Given the description of an element on the screen output the (x, y) to click on. 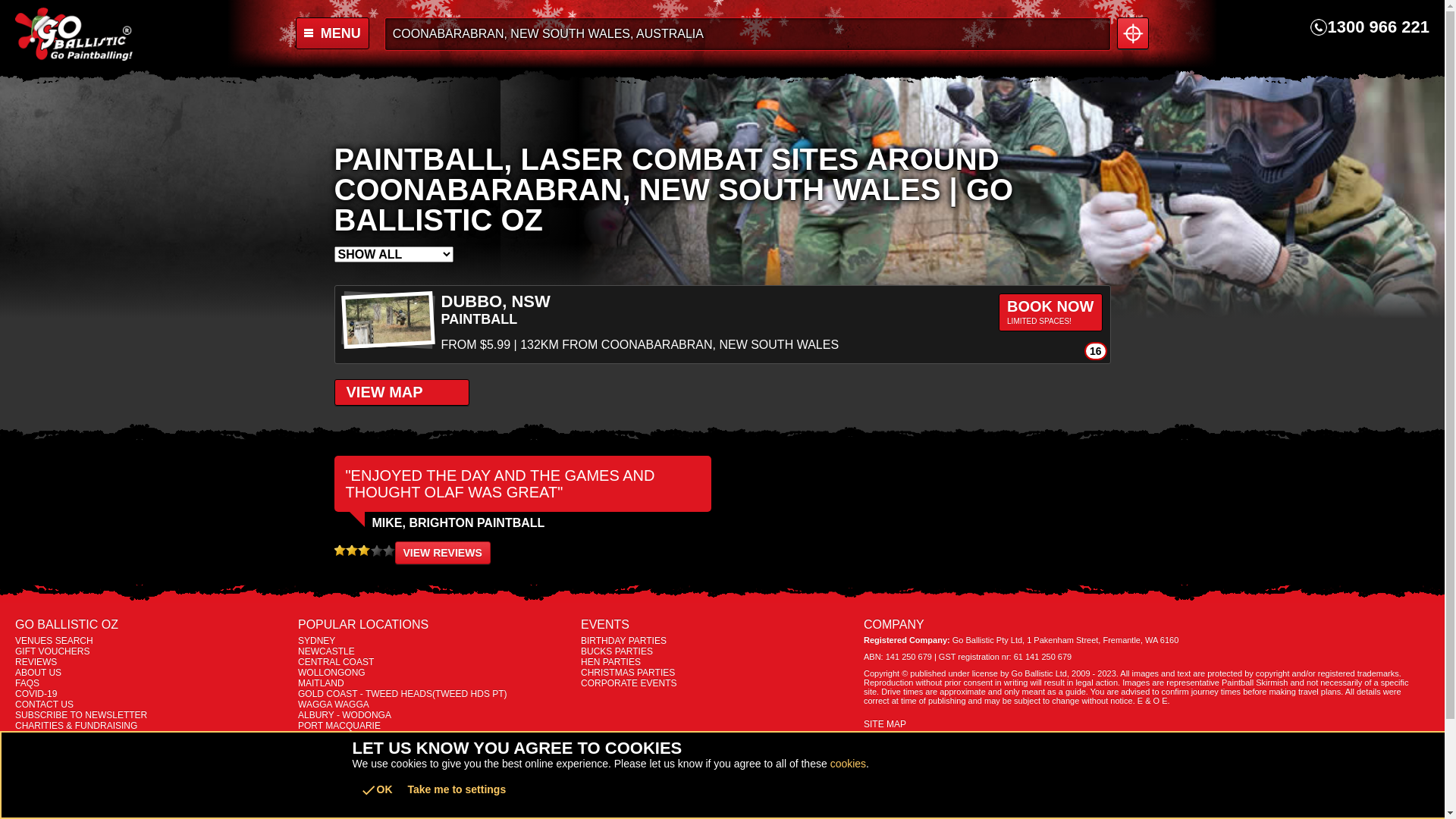
REVIEWS Element type: text (152, 661)
VIEW REVIEWS Element type: text (441, 552)
ALBURY - WODONGA Element type: text (435, 714)
BUCKS PARTIES Element type: text (718, 651)
CHRISTMAS PARTIES Element type: text (718, 672)
OWN AN ACTIVITY VENUE?
Join The Network Element type: text (152, 798)
WAGGA WAGGA Element type: text (435, 704)
CALL1300 966 221 Element type: text (1368, 26)
COOKIES Element type: text (152, 757)
PORT MACQUARIE Element type: text (435, 725)
DUBBO, NSW
PAINTBALL Element type: text (722, 310)
GOLD COAST - TWEED HEADS(TWEED HDS PT) Element type: text (435, 693)
Take me to settings Element type: text (456, 789)
GIFT VOUCHERS Element type: text (152, 651)
MAITLAND Element type: text (435, 682)
BIRTHDAY PARTIES Element type: text (718, 640)
CENTRAL COAST Element type: text (435, 661)
Find a Site Element type: hover (747, 33)
HEN PARTIES Element type: text (718, 661)
COVID-19 Element type: text (152, 693)
NEWCASTLE Element type: text (435, 651)
WOLLONGONG Element type: text (435, 672)
MENU Element type: text (379, 33)
BOOK NOW
LIMITED SPACES! Element type: text (1049, 312)
TERMS & CONDITIONS Element type: text (152, 736)
SITE MAP Element type: text (1142, 723)
SYDNEY Element type: text (435, 640)
FAQS Element type: text (152, 682)
SUBSCRIBE TO NEWSLETTER Element type: text (152, 714)
MIKE, BRIGHTON PAINTBALL Element type: text (438, 522)
ABOUT US Element type: text (152, 672)
VIEW MAP Element type: text (400, 392)
cookies Element type: text (848, 763)
VENUES SEARCH Element type: text (152, 640)
TAMWORTH Element type: text (435, 736)
CHARITIES & FUNDRAISING Element type: text (152, 725)
POLICIES Element type: text (152, 746)
CORPORATE EVENTS Element type: text (718, 682)
Go Ballistic Oz Paintball Skirmish Element type: text (119, 33)
CONTACT US Element type: text (152, 704)
PAINTBALL SKIRMISH SITES NEAR YOU Element type: text (1132, 33)
checkOK Element type: text (375, 789)
